Given the description of an element on the screen output the (x, y) to click on. 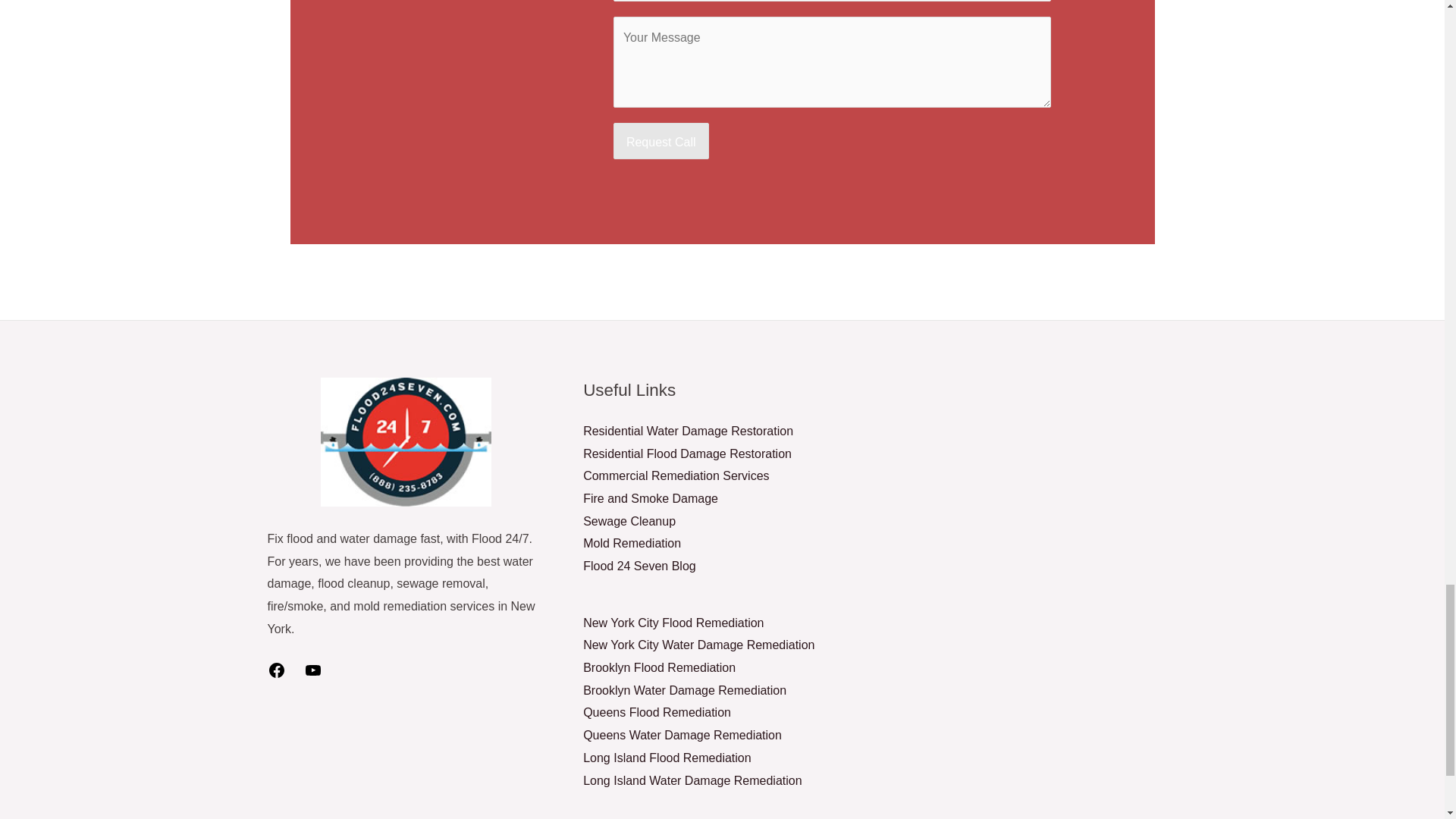
Request Call (660, 140)
Facebook (275, 675)
888-235-8783 (437, 2)
